Given the description of an element on the screen output the (x, y) to click on. 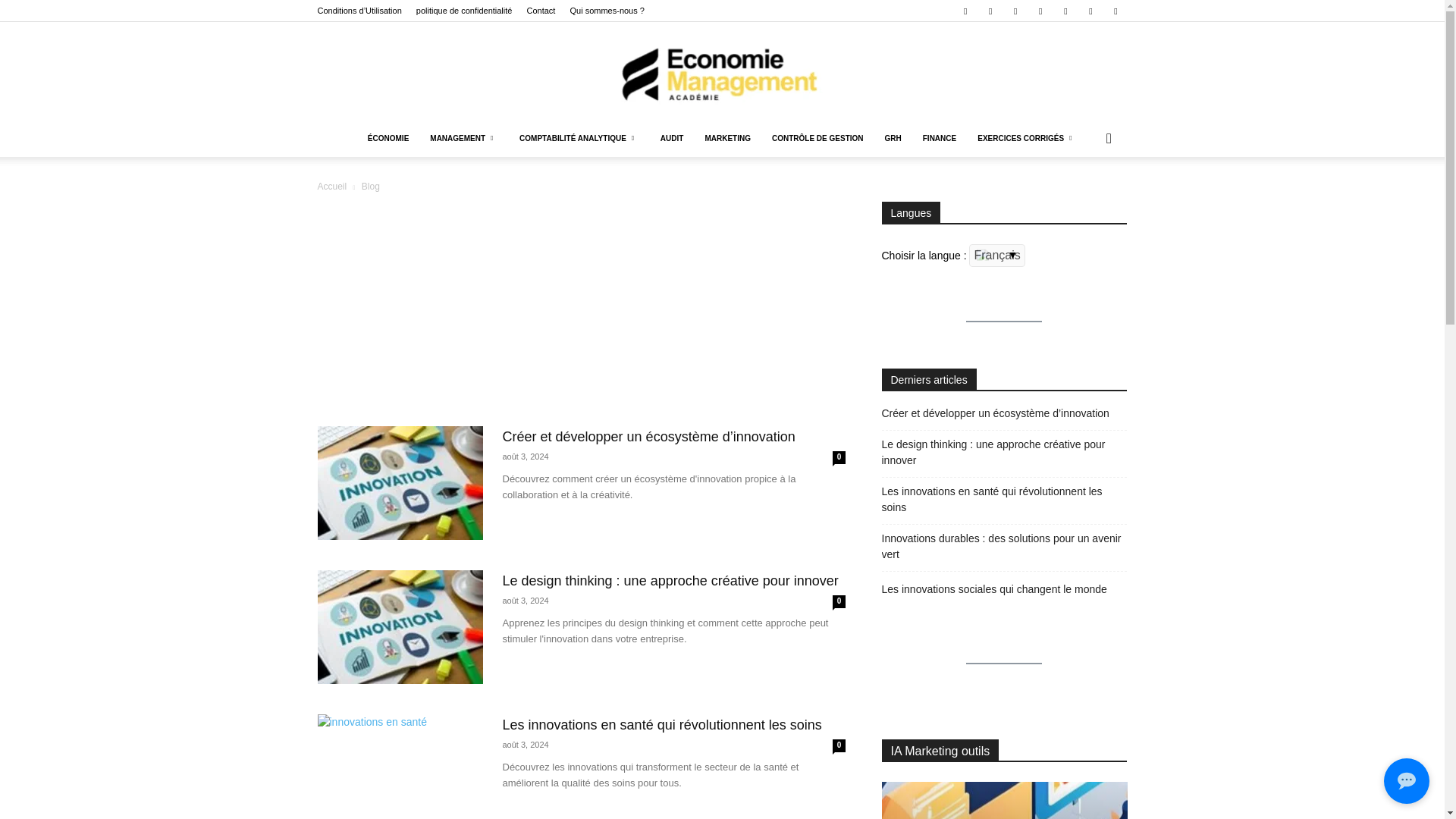
Contact (539, 10)
Linkedin (989, 10)
Telegram (1090, 10)
Qui sommes-nous ? (606, 10)
Facebook (964, 10)
Reddit (1065, 10)
Pinterest (1040, 10)
Twitter (1114, 10)
Medium (1015, 10)
